Given the description of an element on the screen output the (x, y) to click on. 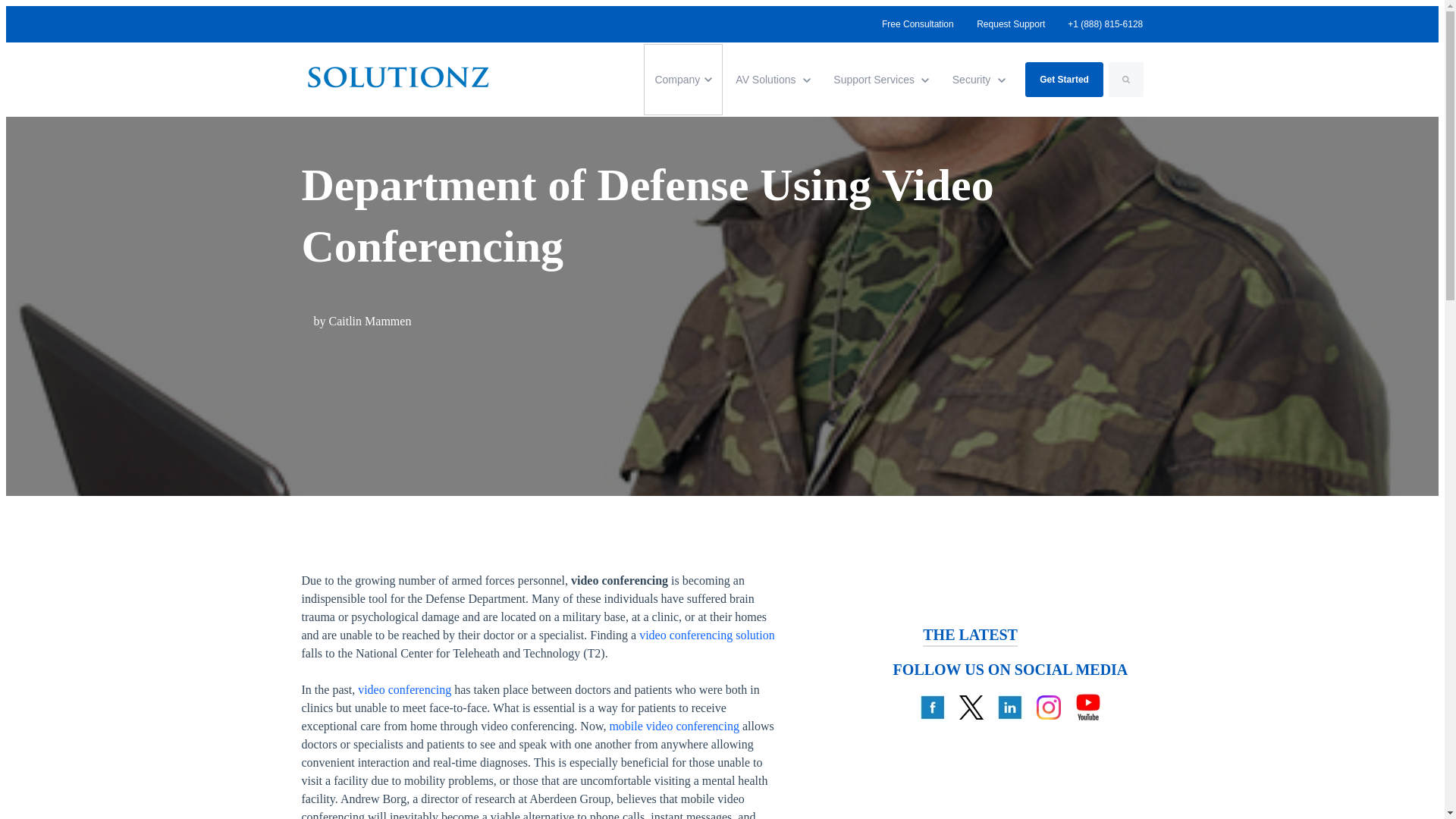
Small and square version of the Twitter icon (682, 79)
Small and square version of the Facebook icon (971, 707)
Free Consultation (932, 707)
Request Support (922, 23)
Small and square version of the YouTube icon (1010, 23)
Small and square version of the Instagram icon (881, 79)
Small and square version of the LinkedIn icon (773, 79)
